Given the description of an element on the screen output the (x, y) to click on. 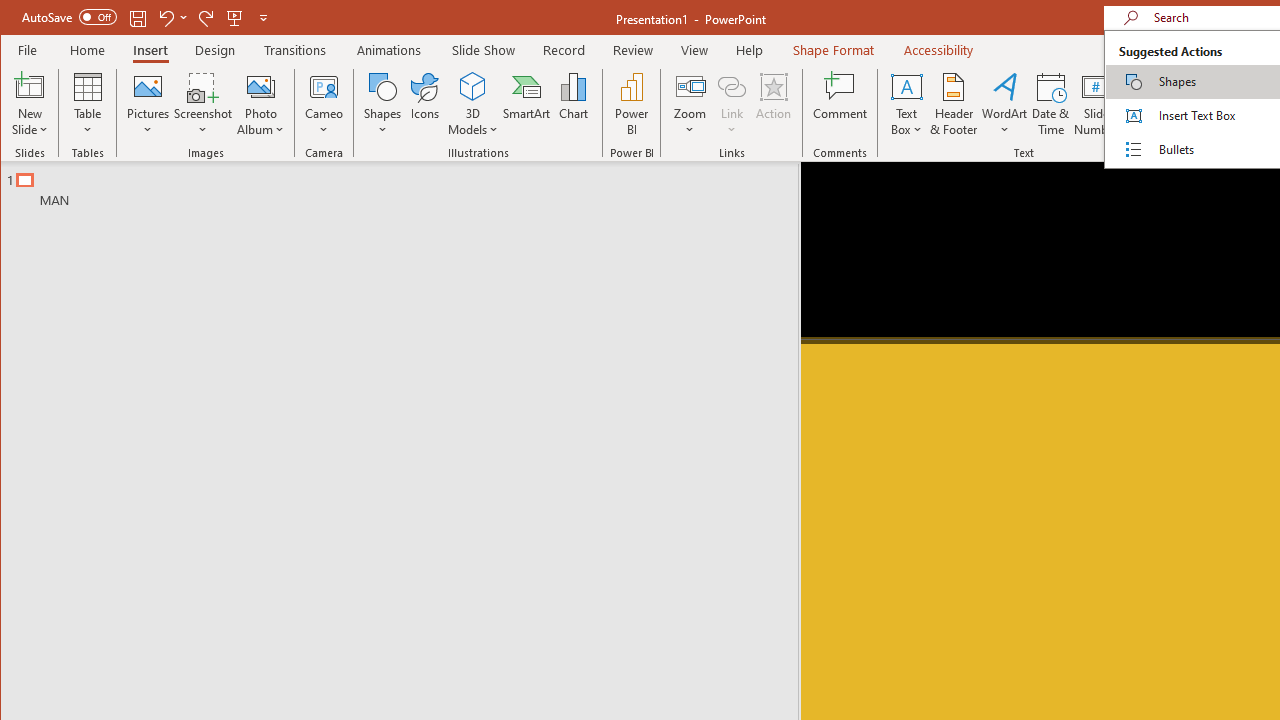
Action (773, 104)
Equation (1204, 104)
Link (731, 86)
Icons (424, 104)
Power BI (631, 104)
